Given the description of an element on the screen output the (x, y) to click on. 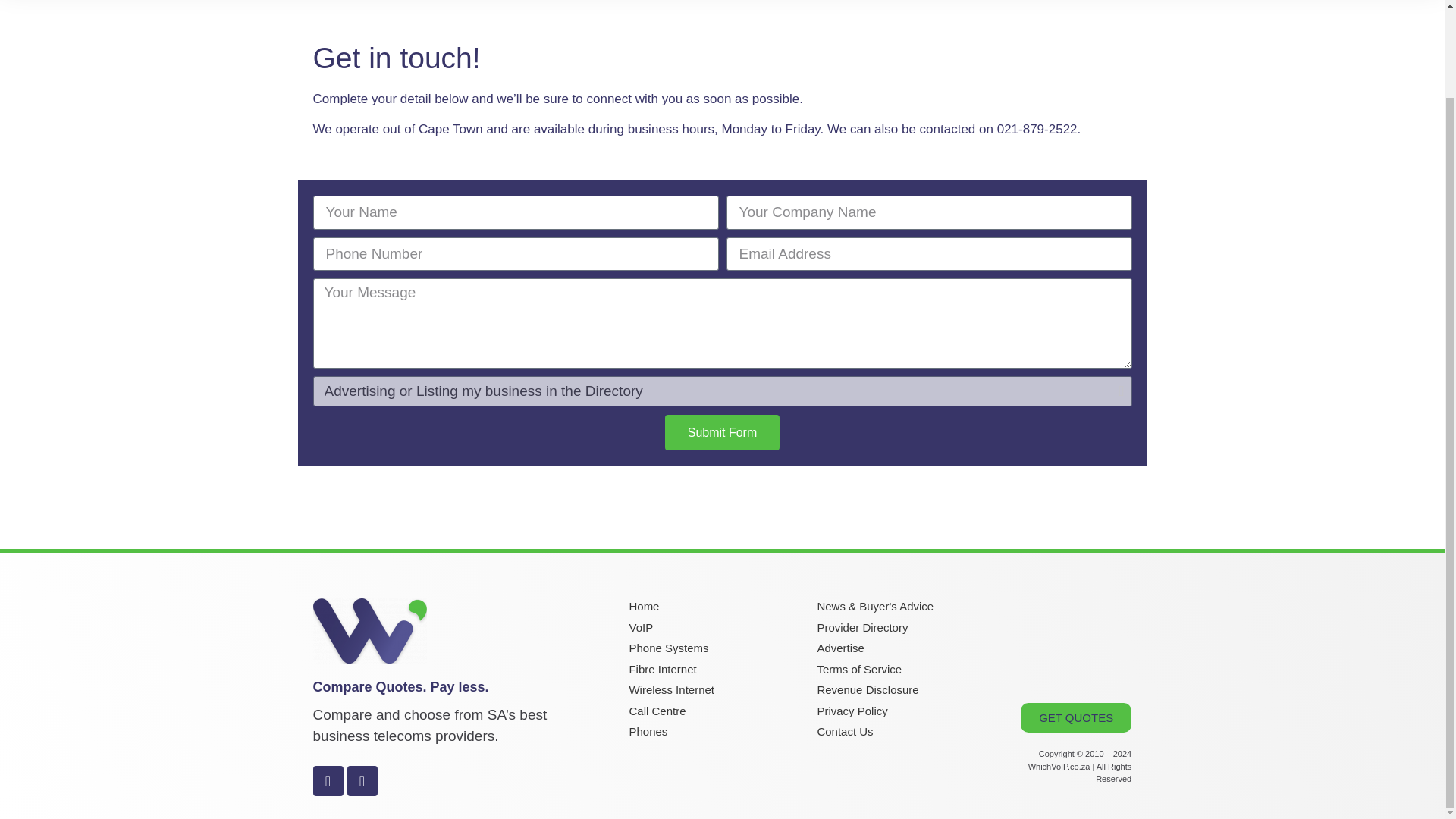
WhichVoIP Logo-16 (369, 630)
